Given the description of an element on the screen output the (x, y) to click on. 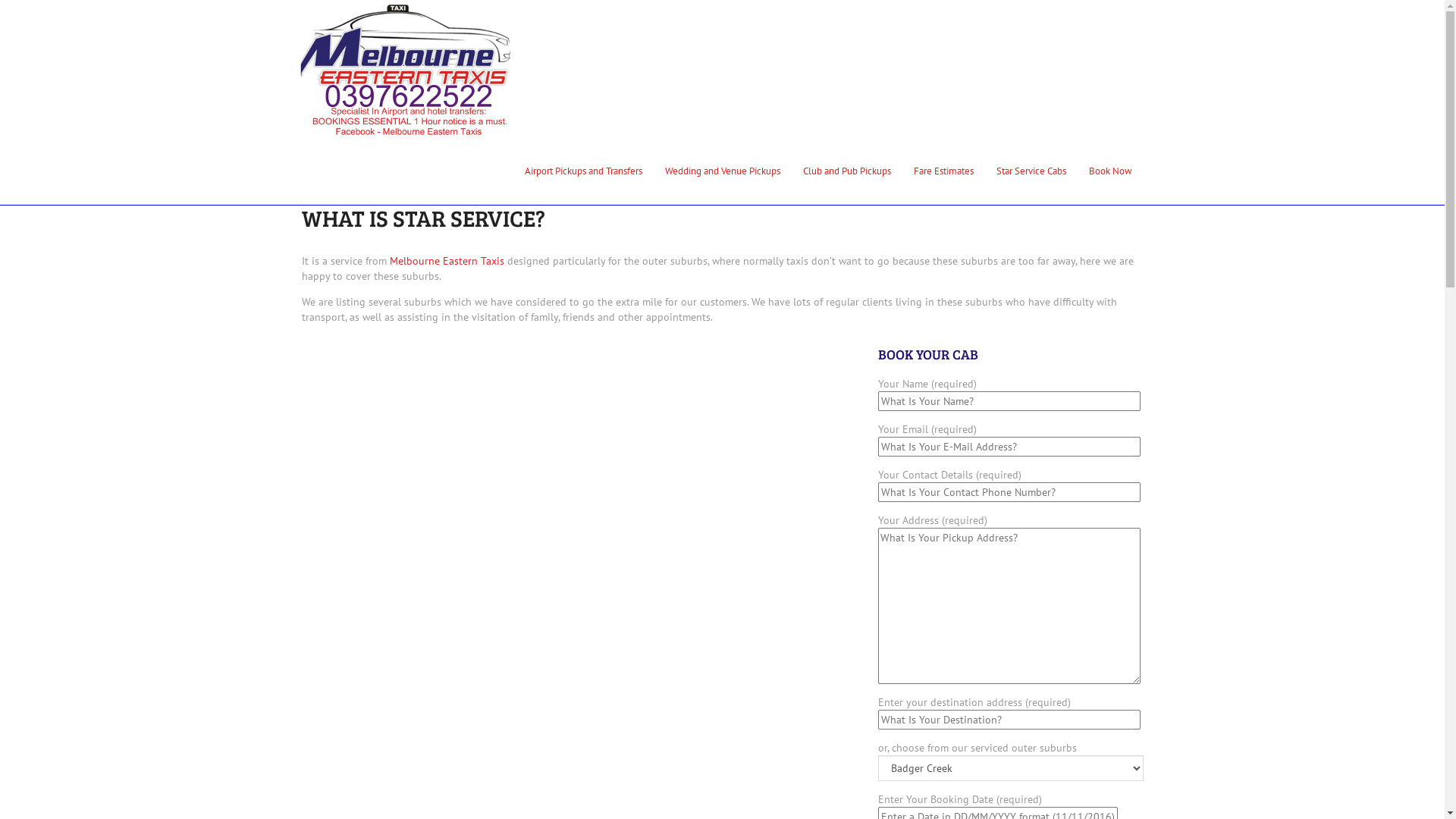
Airport Pickups and Transfers Element type: text (582, 170)
Book Now Element type: text (1109, 170)
Wedding and Venue Pickups Element type: text (722, 170)
Fare Estimates Element type: text (943, 170)
Club and Pub Pickups Element type: text (846, 170)
Star Service Cabs Element type: text (1030, 170)
